Given the description of an element on the screen output the (x, y) to click on. 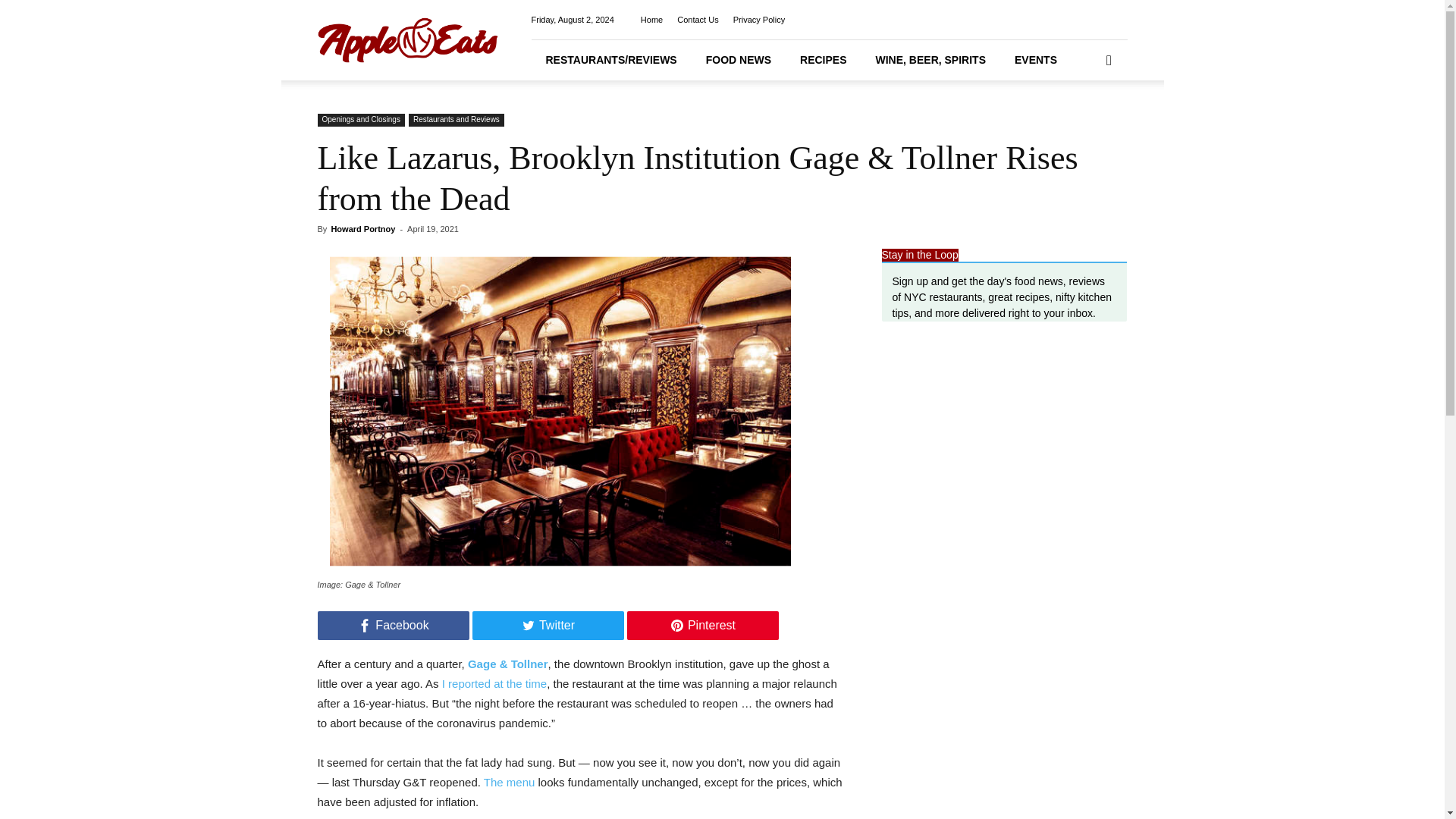
WINE, BEER, SPIRITS (929, 60)
Privacy Policy (758, 19)
Pinterest (701, 624)
Howard Portnoy (362, 228)
Apple Eats: New York City NYC Food News (407, 40)
Twitter (547, 624)
Facebook (392, 624)
The menu (509, 781)
RECIPES (823, 60)
Search (1085, 122)
FOOD NEWS (738, 60)
Restaurants and Reviews (456, 119)
EVENTS (1035, 60)
I reported at the time (494, 683)
Home (651, 19)
